Given the description of an element on the screen output the (x, y) to click on. 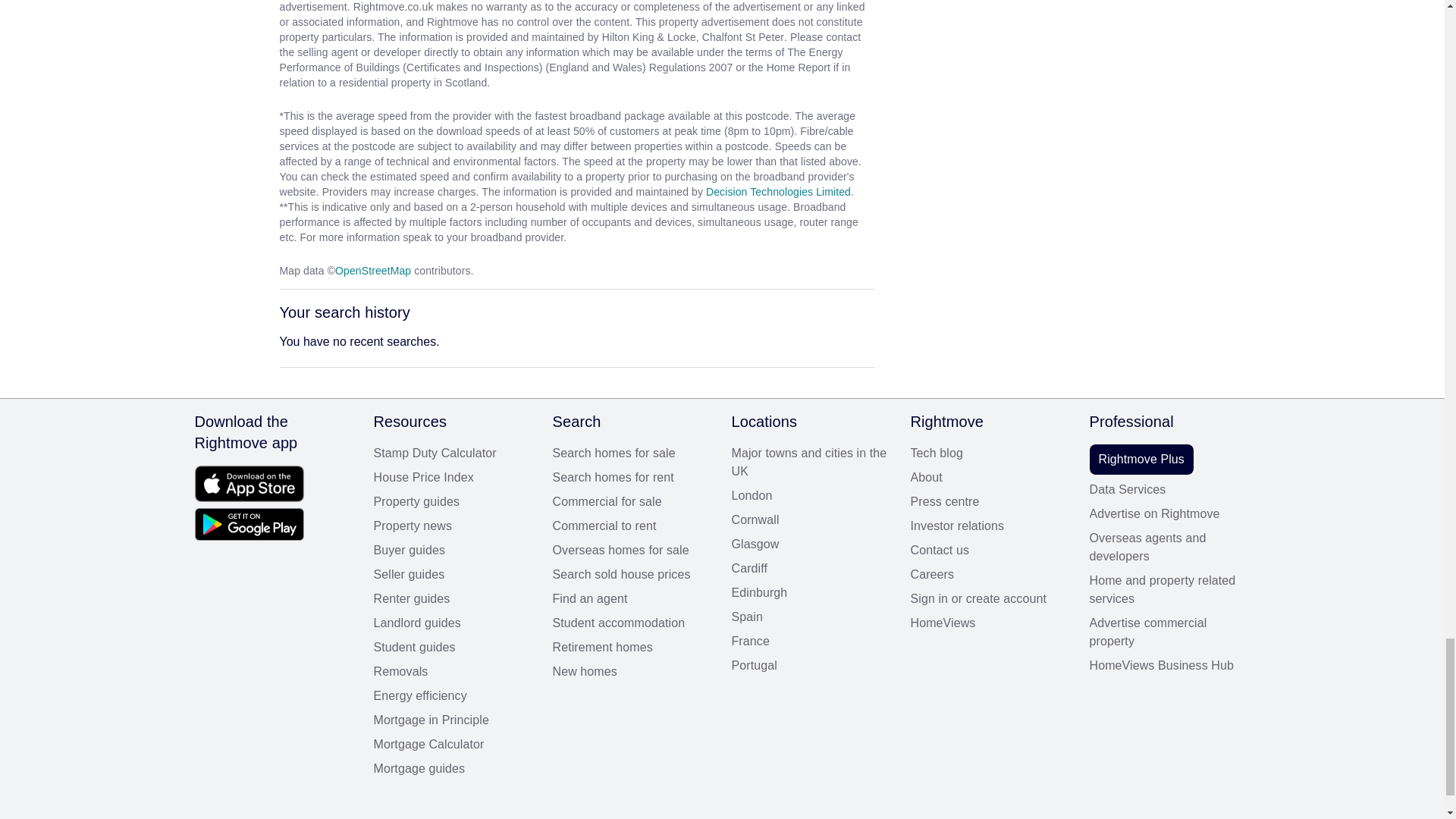
Buyer guides (453, 550)
House price index (453, 477)
Landlord guides (453, 623)
Property news (453, 525)
Renter guides (453, 598)
Open Street Map (372, 270)
Seller guides (453, 574)
Property guides (453, 502)
Stamp duty calculator (453, 453)
